Given the description of an element on the screen output the (x, y) to click on. 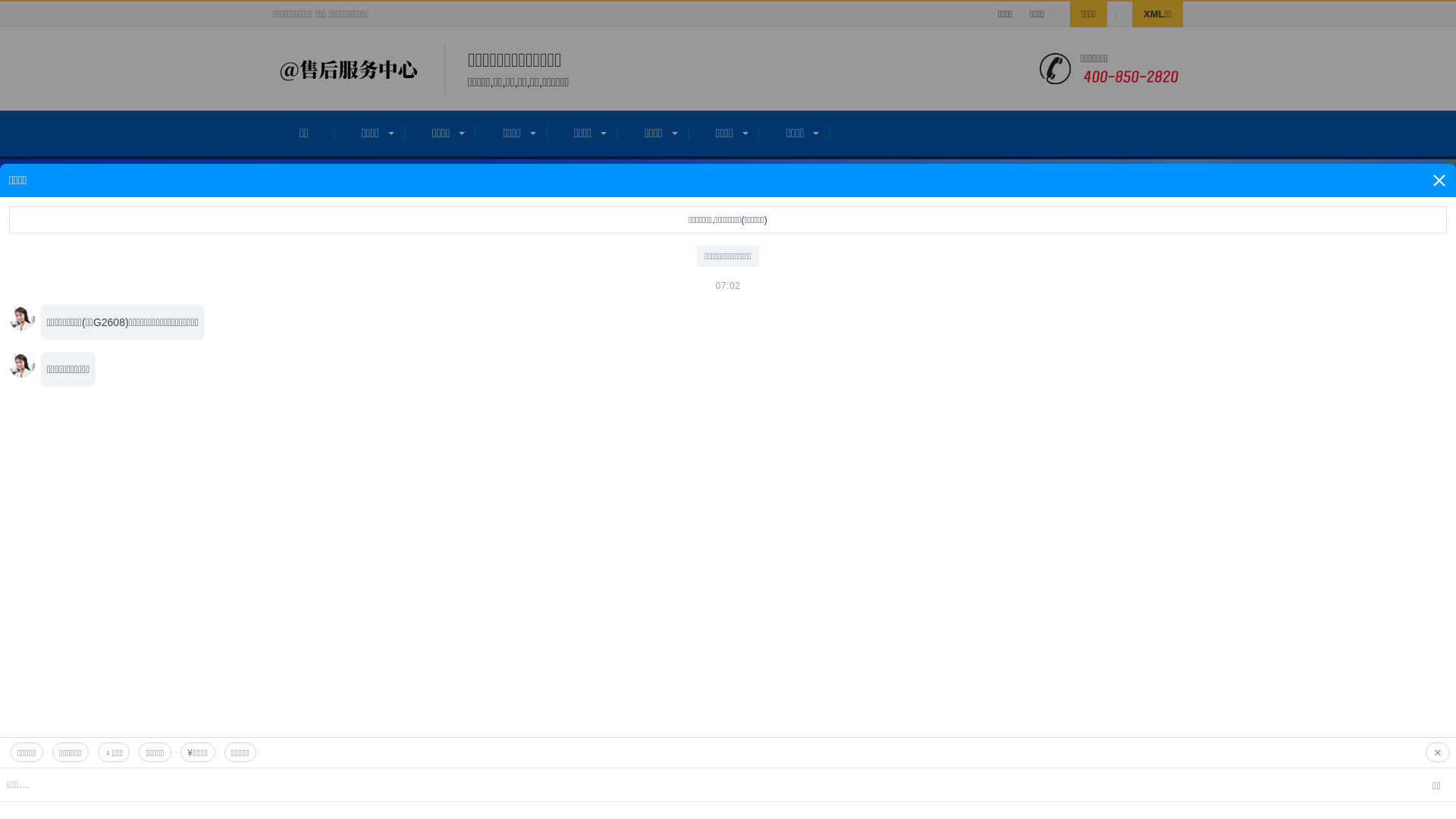
2 Element type: text (1424, 235)
